Given the description of an element on the screen output the (x, y) to click on. 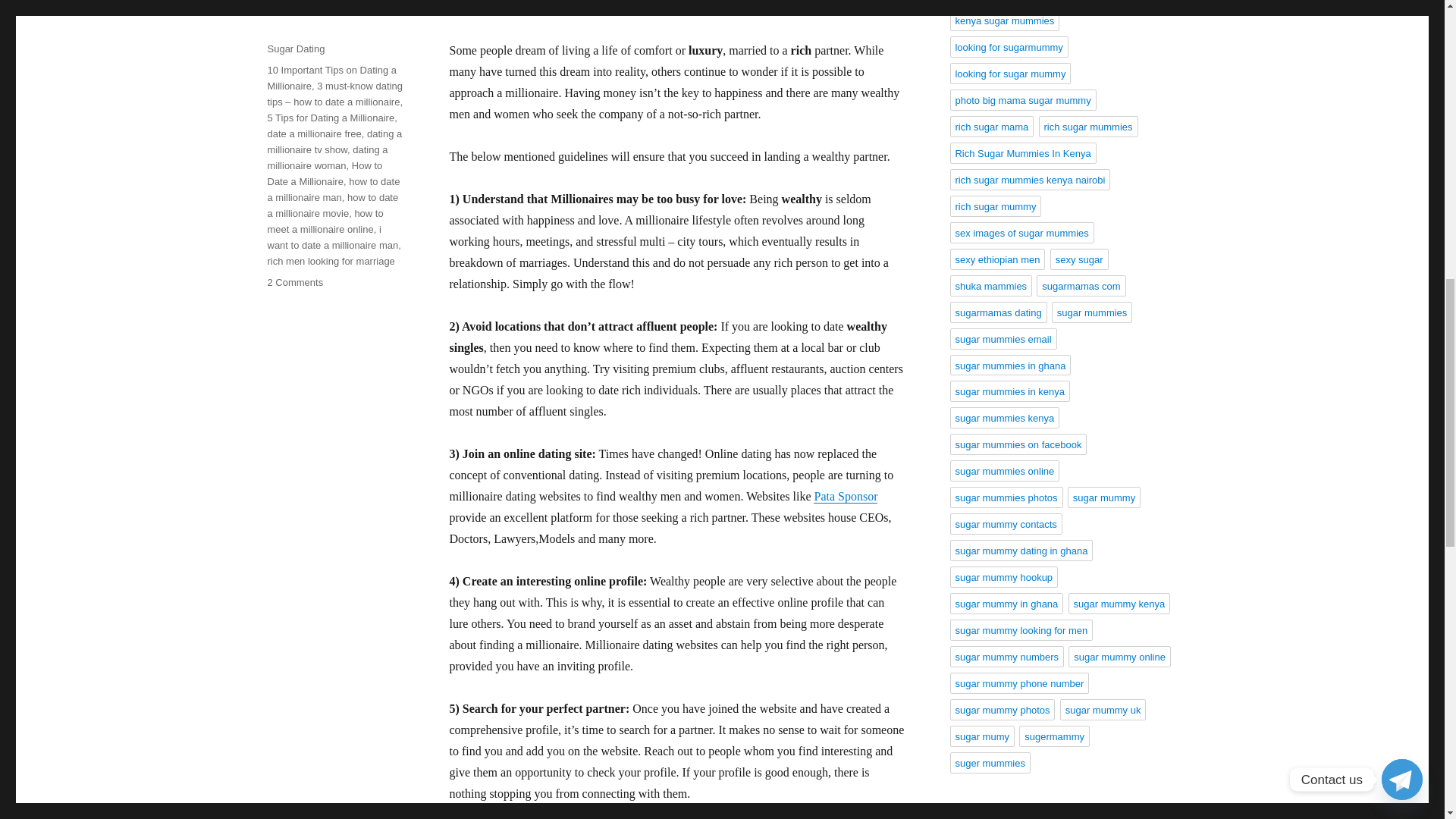
date a millionaire free (313, 133)
dating a millionaire woman (326, 157)
how to meet a millionaire online (324, 221)
5 Tips for Dating a Millionaire (330, 117)
10 Important Tips on Dating a Millionaire (331, 77)
Pata Sponsor (845, 495)
rich men looking for marriage (330, 260)
dating a millionaire tv show (333, 141)
How to Date a Millionaire (323, 173)
how to date a millionaire movie (331, 205)
Sugar Dating (295, 48)
how to date a millionaire man (294, 282)
i want to date a millionaire man (332, 189)
